Given the description of an element on the screen output the (x, y) to click on. 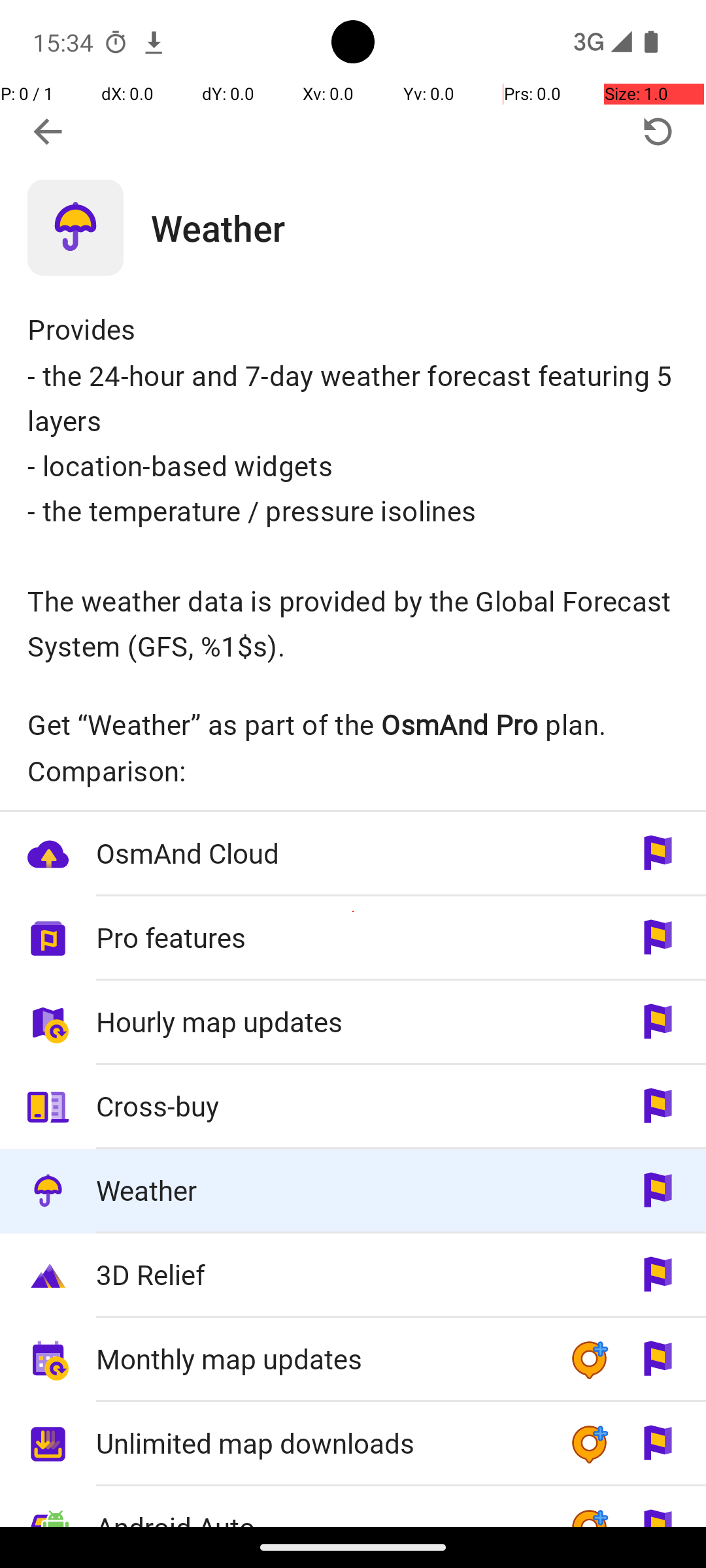
Restore purchases Element type: android.widget.ImageButton (657, 131)
Provides
- the 24-hour and 7-day weather forecast featuring 5 layers
- location-based widgets
- the temperature / pressure isolines

The weather data is provided by the Global Forecast System (GFS, %1$s). Element type: android.widget.TextView (353, 487)
Get “Weather” as part of the OsmAnd Pro plan. Comparison: Element type: android.widget.TextView (353, 747)
OsmAnd Cloud available as part of the OsmAnd Pro plan Element type: android.widget.LinearLayout (353, 854)
Pro features available as part of the OsmAnd Pro plan Element type: android.widget.LinearLayout (353, 938)
Hourly map updates available as part of the OsmAnd Pro plan Element type: android.widget.LinearLayout (353, 1022)
Cross-buy available as part of the OsmAnd Pro plan Element type: android.widget.LinearLayout (353, 1106)
Weather available as part of the OsmAnd Pro plan Element type: android.widget.LinearLayout (353, 1191)
3D Relief available as part of the OsmAnd Pro plan Element type: android.widget.LinearLayout (353, 1275)
Monthly map updates available as part of the OsmAnd+ or OsmAnd Pro plan Element type: android.widget.LinearLayout (353, 1359)
Unlimited map downloads available as part of the OsmAnd+ or OsmAnd Pro plan Element type: android.widget.LinearLayout (353, 1444)
Android Auto available as part of the OsmAnd+ or OsmAnd Pro plan Element type: android.widget.LinearLayout (353, 1506)
OsmAnd Cloud Element type: android.widget.TextView (318, 852)
Pro features Element type: android.widget.TextView (318, 936)
Hourly map updates Element type: android.widget.TextView (318, 1021)
Cross-buy Element type: android.widget.TextView (318, 1105)
3D Relief Element type: android.widget.TextView (318, 1273)
Monthly map updates Element type: android.widget.TextView (318, 1358)
Unlimited map downloads Element type: android.widget.TextView (318, 1442)
